Given the description of an element on the screen output the (x, y) to click on. 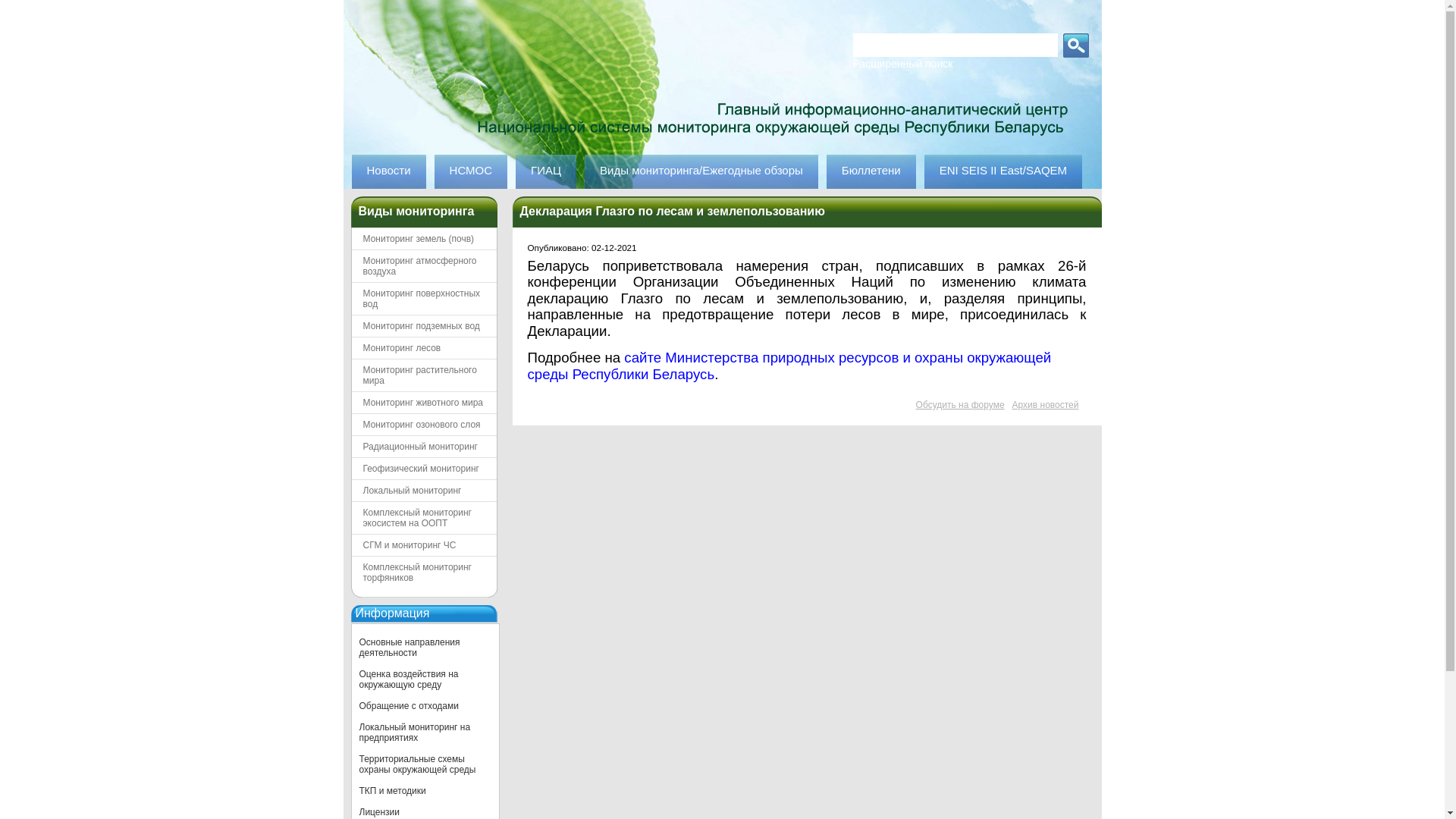
ENI SEIS II East/SAQEM Element type: text (1003, 171)
